Given the description of an element on the screen output the (x, y) to click on. 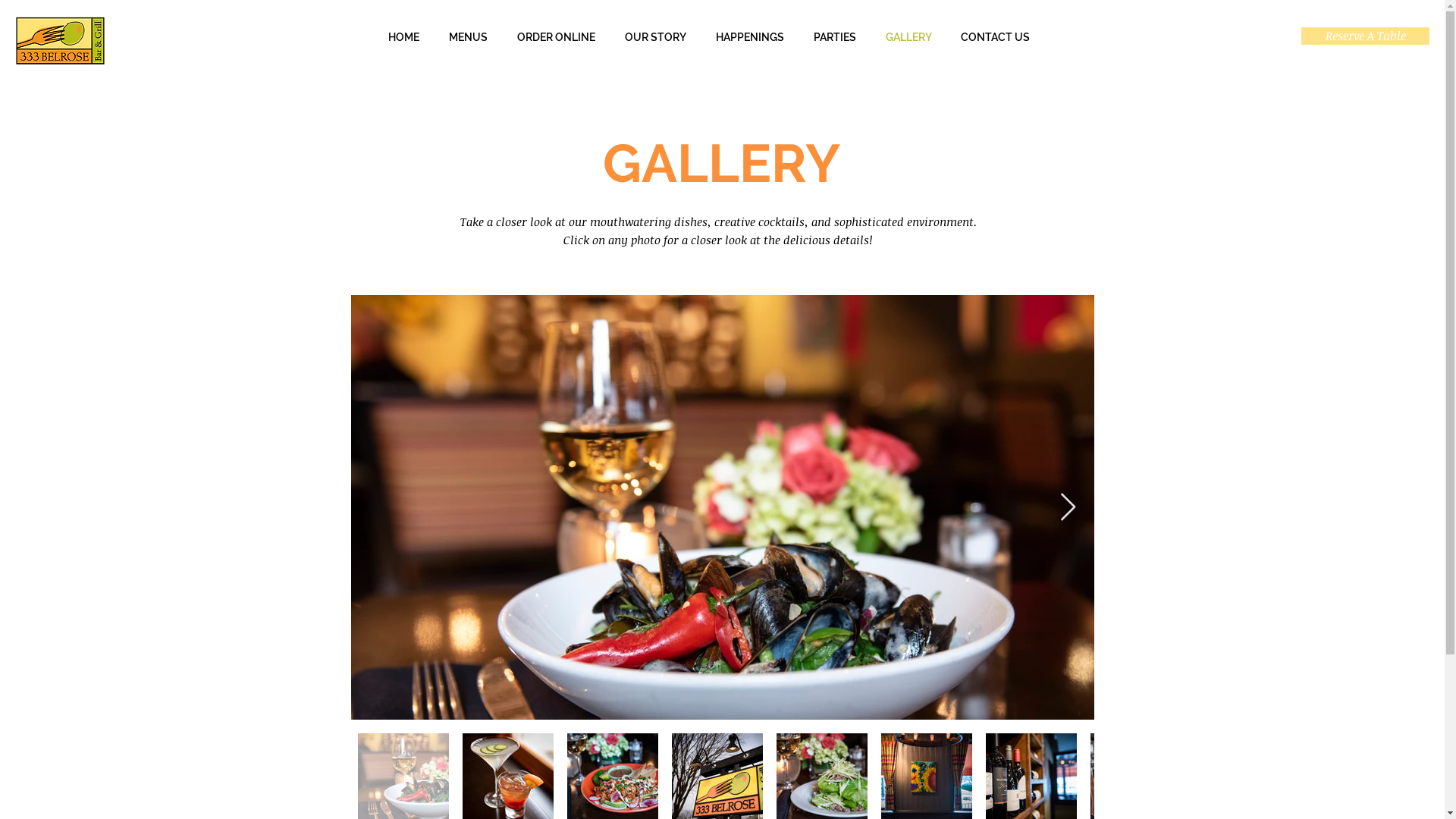
PARTIES Element type: text (835, 37)
OUR STORY Element type: text (654, 37)
GALLERY Element type: text (907, 37)
CONTACT US Element type: text (995, 37)
HAPPENINGS Element type: text (749, 37)
MENUS Element type: text (467, 37)
Reserve A Table Element type: text (1365, 35)
ORDER ONLINE Element type: text (555, 37)
HOME Element type: text (403, 37)
